Given the description of an element on the screen output the (x, y) to click on. 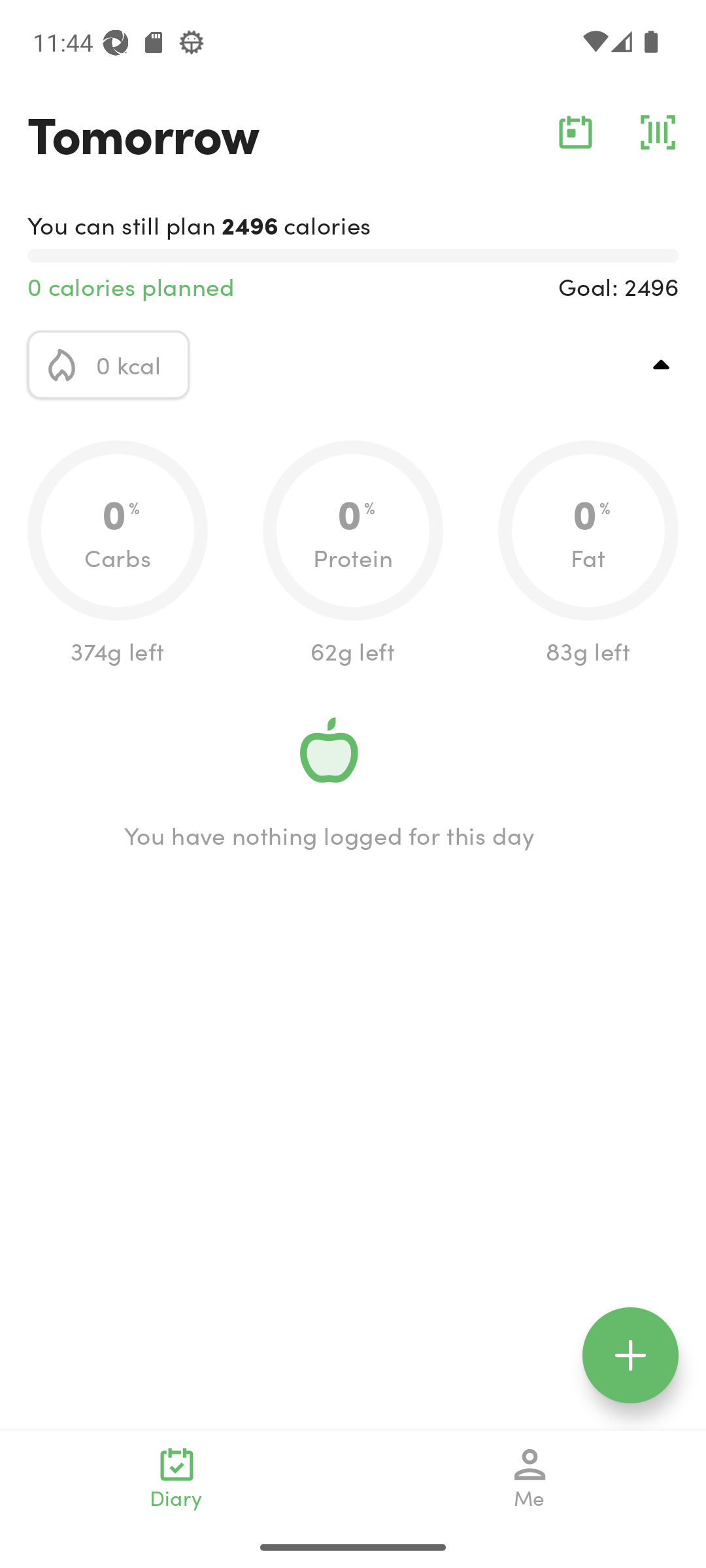
calendar_action (575, 132)
barcode_action (658, 132)
calorie_icon 0 kcal (108, 365)
top_right_action (661, 365)
0.0 0 % Carbs 374g left (117, 553)
0.0 0 % Protein 62g left (352, 553)
0.0 0 % Fat 83g left (588, 553)
floating_action_icon (630, 1355)
Me navigation_icon (529, 1478)
